Given the description of an element on the screen output the (x, y) to click on. 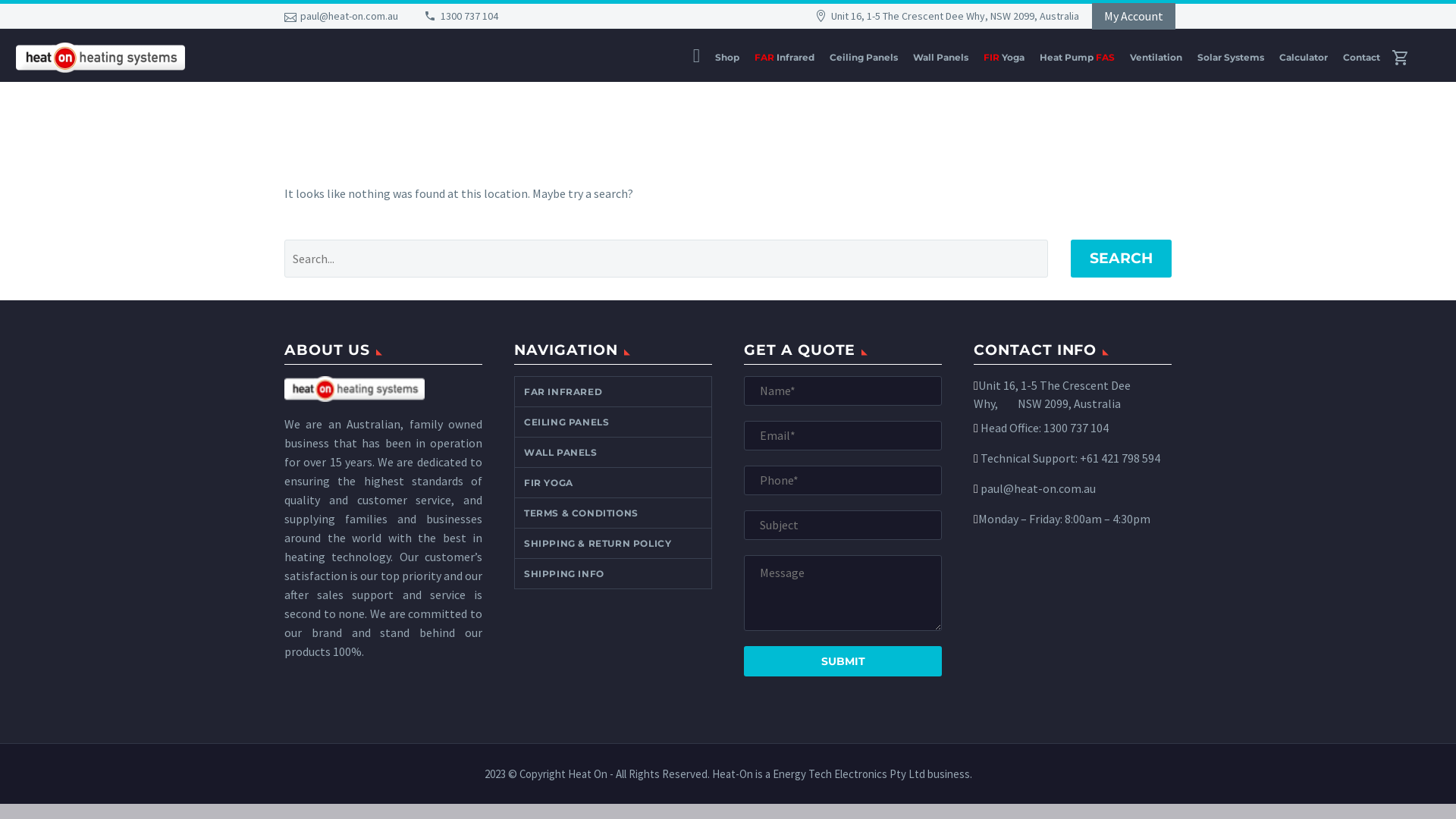
Submit Element type: text (842, 661)
paul@heat-on.com.au Element type: text (349, 15)
FAR INFRARED Element type: text (612, 391)
Shop Element type: text (726, 56)
SHIPPING INFO Element type: text (612, 573)
1300 737 104 Element type: text (1075, 427)
paul@heat-on.com.au Element type: text (1036, 487)
Wall Panels Element type: text (940, 56)
Heat Pump FAS Element type: text (1077, 56)
My Account Element type: text (1133, 16)
SHIPPING & RETURN POLICY Element type: text (612, 543)
Solar Systems Element type: text (1230, 56)
SEARCH Element type: text (1120, 258)
Ceiling Panels Element type: text (863, 56)
FIR YOGA Element type: text (612, 482)
Calculator Element type: text (1303, 56)
Contact Element type: text (1361, 56)
WALL PANELS Element type: text (612, 452)
Ventilation Element type: text (1155, 56)
CEILING PANELS Element type: text (612, 421)
+61 421 798 594 Element type: text (1119, 457)
FIR Yoga Element type: text (1003, 56)
1300 737 104 Element type: text (469, 15)
TERMS & CONDITIONS Element type: text (612, 512)
FAR Infrared Element type: text (784, 56)
